Given the description of an element on the screen output the (x, y) to click on. 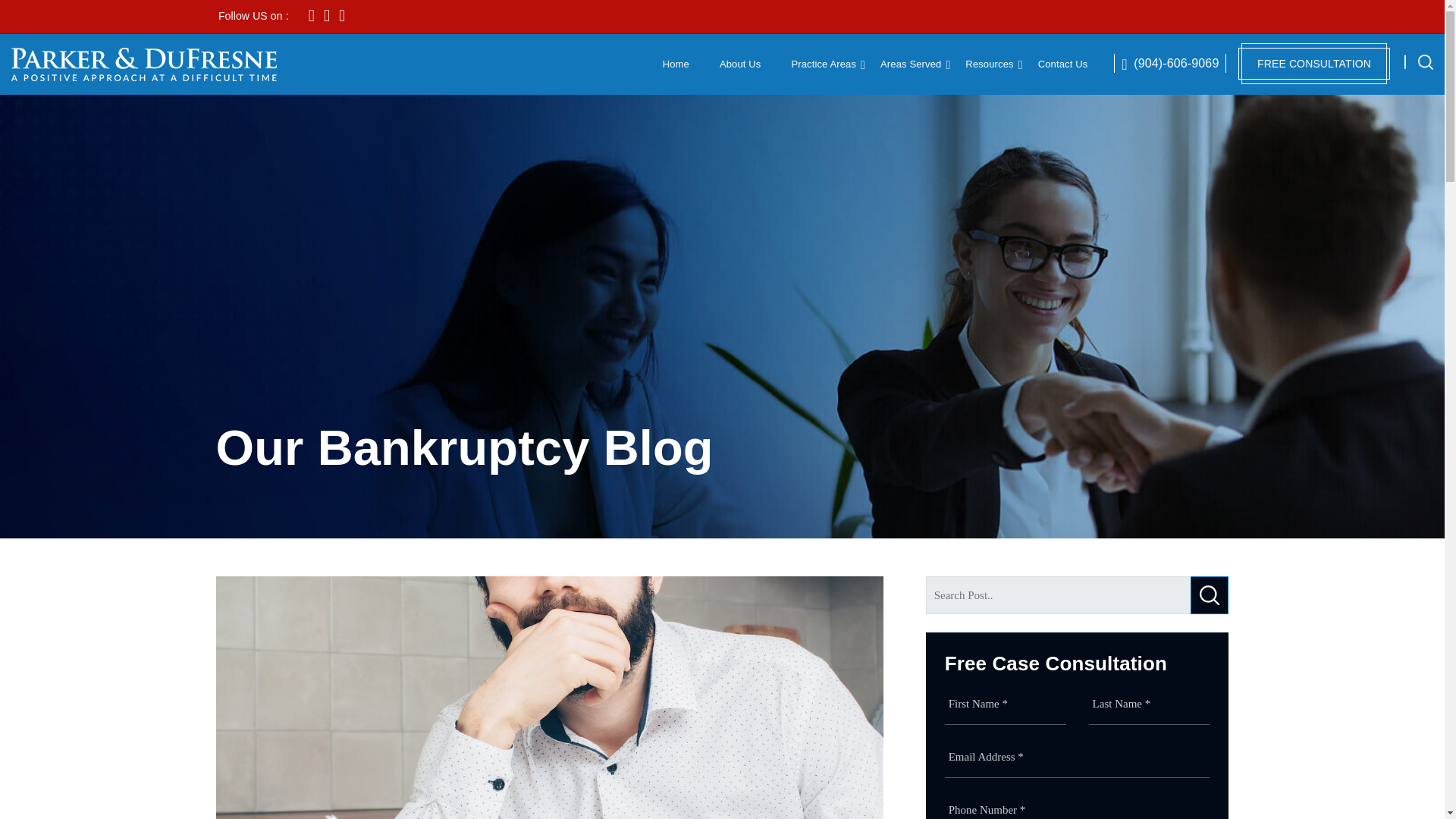
Practice Areas (823, 64)
FREE CONSULTATION (1314, 63)
Areas Served (910, 64)
